Given the description of an element on the screen output the (x, y) to click on. 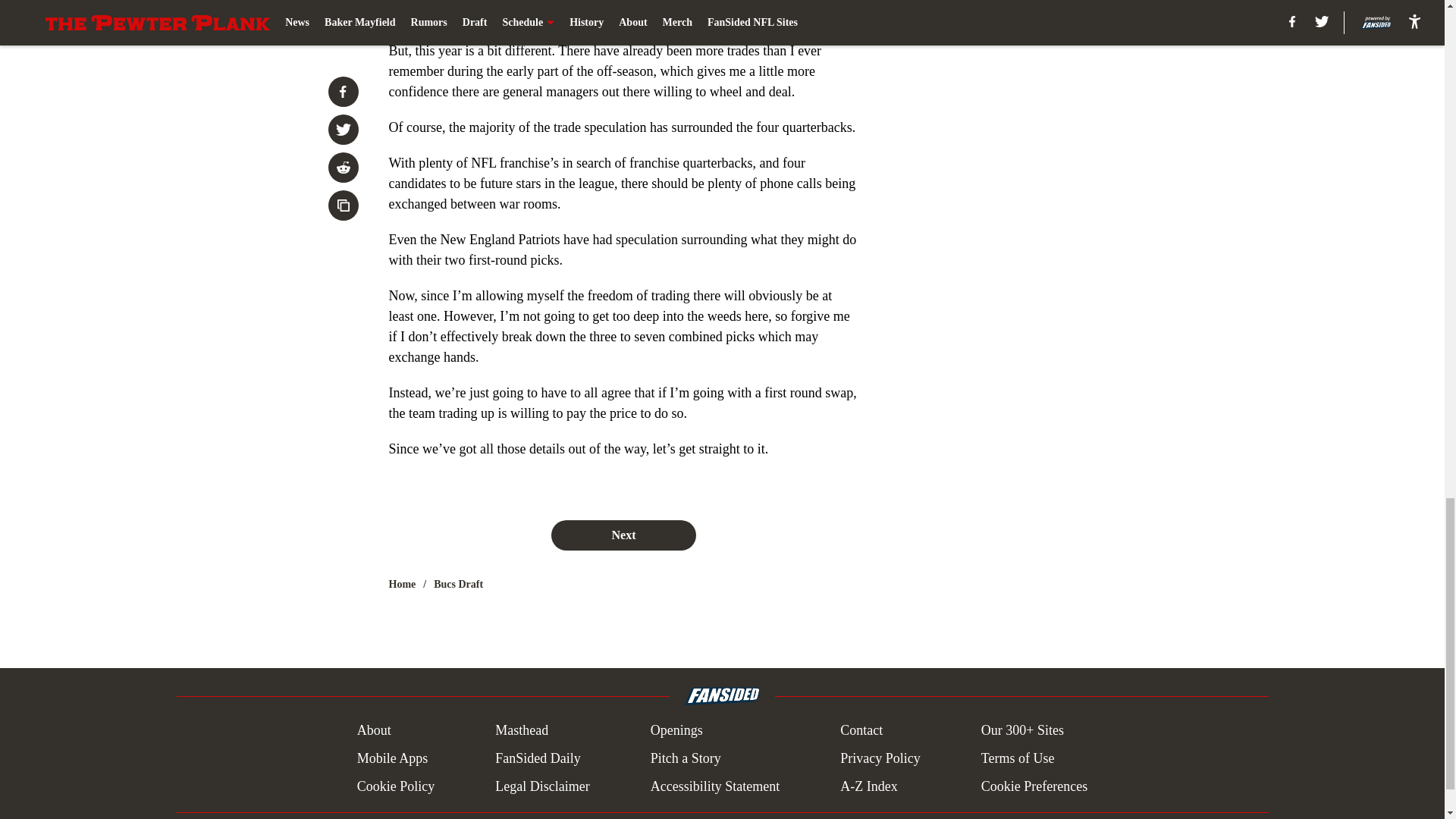
Home (401, 584)
Next (622, 535)
Openings (676, 730)
Mobile Apps (392, 758)
Pitch a Story (685, 758)
Masthead (521, 730)
Privacy Policy (880, 758)
Contact (861, 730)
Bucs Draft (458, 584)
Legal Disclaimer (542, 786)
Cookie Policy (395, 786)
Terms of Use (1017, 758)
About (373, 730)
FanSided Daily (537, 758)
